Given the description of an element on the screen output the (x, y) to click on. 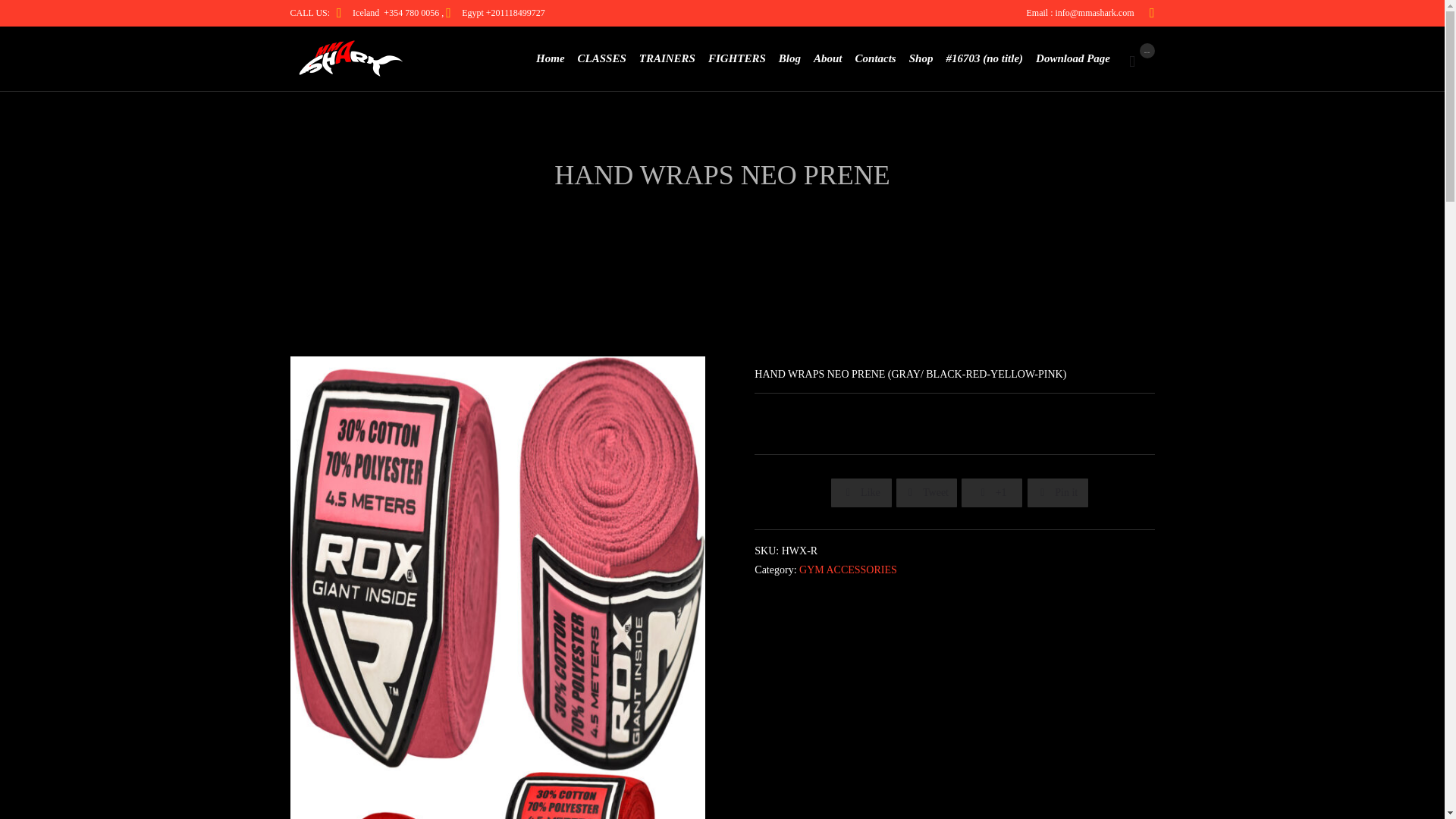
CLASSES (600, 58)
FIGHTERS (736, 58)
Shop (920, 58)
About (827, 58)
GYM ACCESSORIES (847, 569)
TRAINERS (666, 58)
Home (550, 58)
Share on Twitter (926, 492)
Download Page (1072, 58)
Share on Pinterest (1057, 492)
Share on Google Plus (991, 492)
MMA SHRAK (347, 58)
Blog (788, 58)
